Given the description of an element on the screen output the (x, y) to click on. 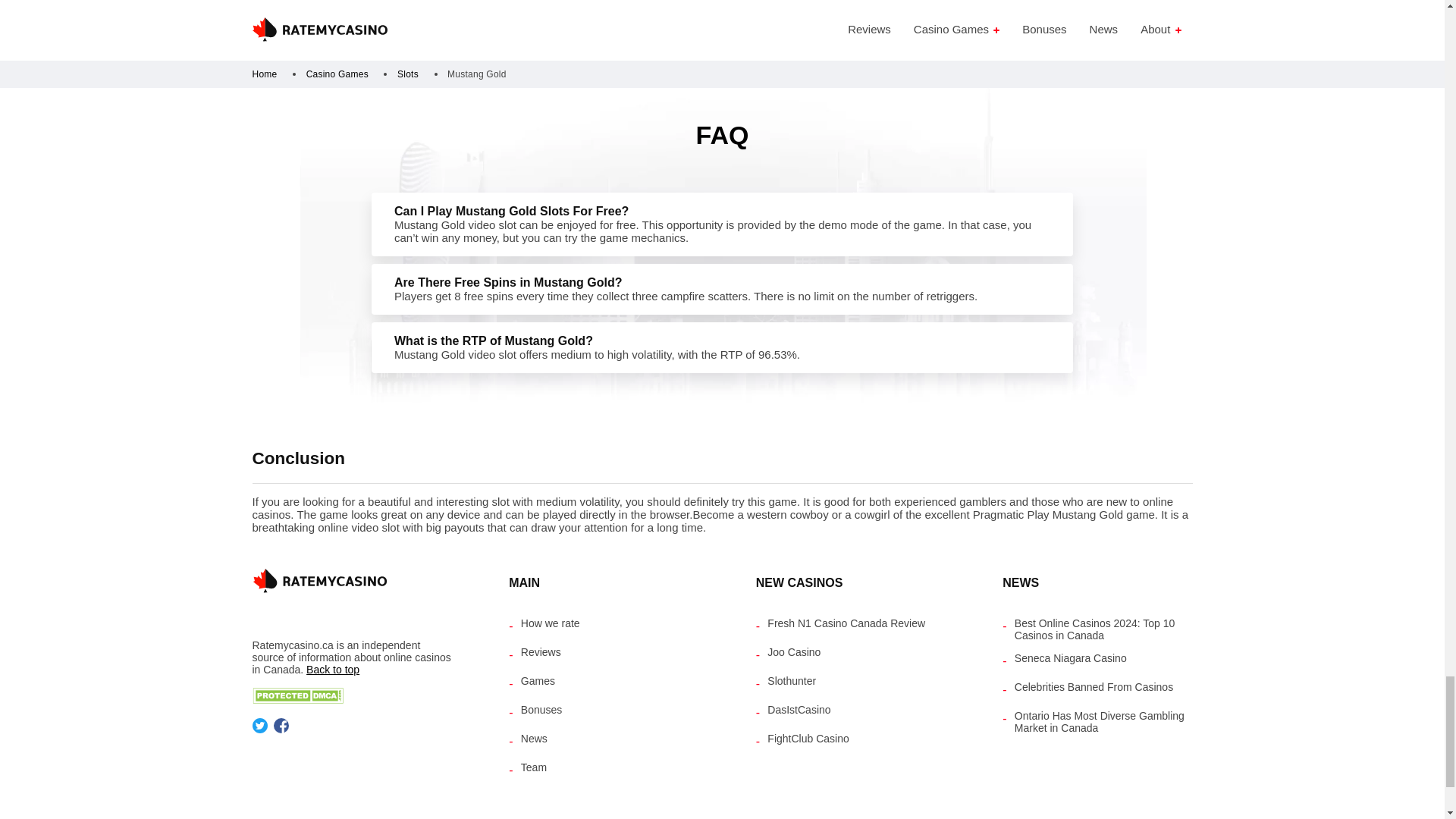
Facebook (278, 729)
DMCA.com Protection Status (296, 699)
Reviews (540, 655)
Twitter (258, 729)
Back to top (332, 669)
How we rate (550, 626)
